Given the description of an element on the screen output the (x, y) to click on. 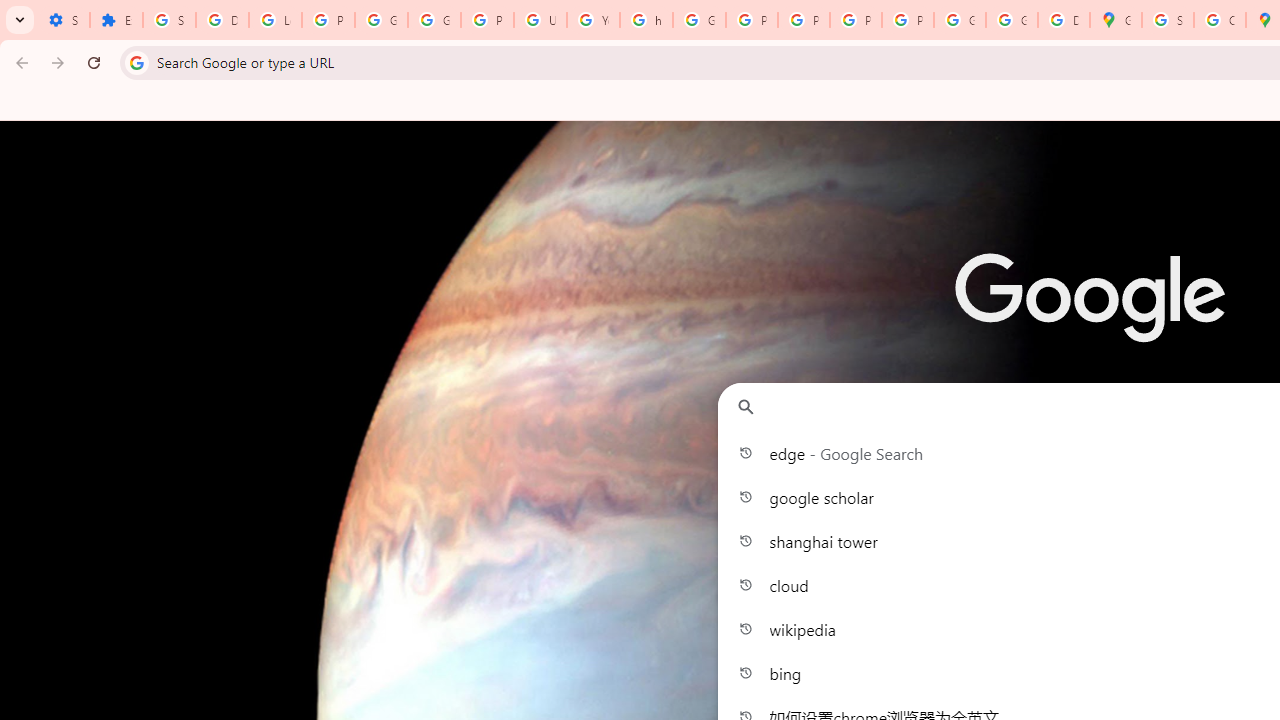
Settings - On startup (63, 20)
Sign in - Google Accounts (1167, 20)
Google Maps (1146, 504)
Create your Google Account (1219, 20)
Chrome Web Store (1033, 504)
Google Account Help (434, 20)
Google Account Help (381, 20)
